Given the description of an element on the screen output the (x, y) to click on. 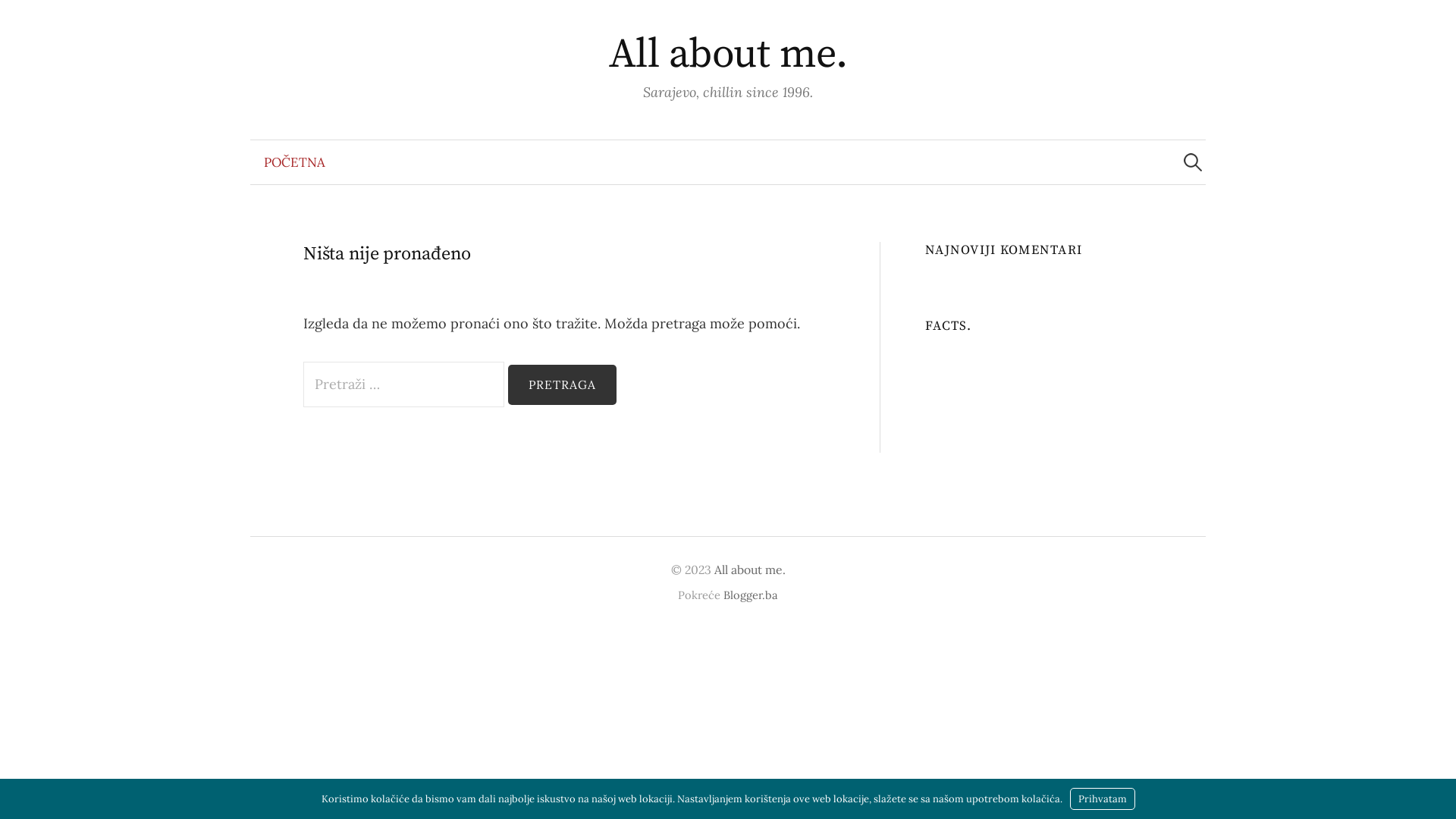
Prihvatam Element type: text (1101, 798)
Blogger.ba Element type: text (750, 594)
Pretraga Element type: text (18, 18)
All about me. Element type: text (749, 569)
All about me. Element type: text (727, 54)
Pretraga Element type: text (562, 384)
